Given the description of an element on the screen output the (x, y) to click on. 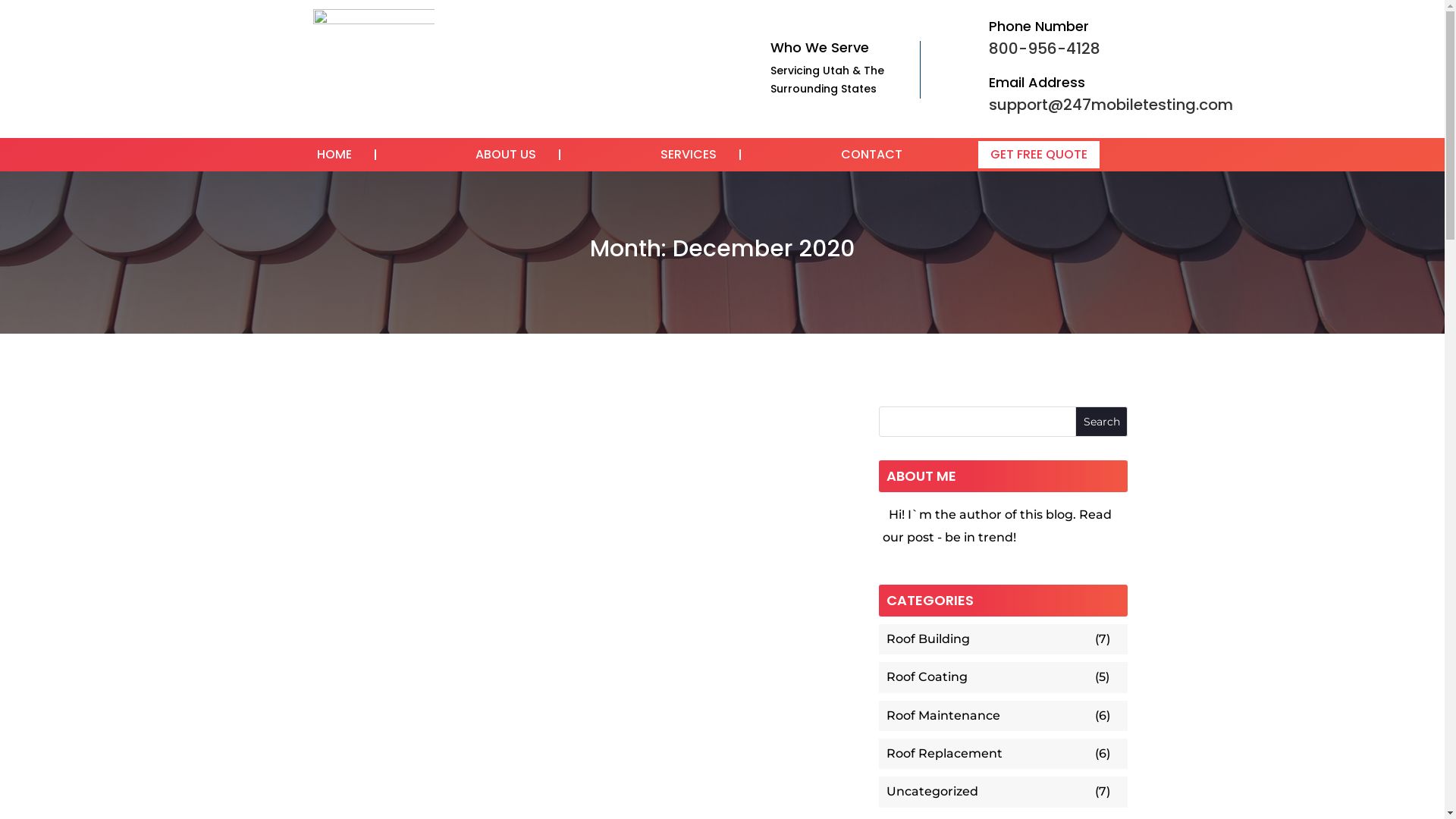
ABOUT US Element type: text (505, 154)
GET FREE QUOTE Element type: text (1038, 155)
Uncategorized Element type: text (989, 791)
SERVICES Element type: text (688, 154)
HOME Element type: text (333, 154)
CONTACT Element type: text (871, 154)
Roof Coating Element type: text (989, 676)
Roof Maintenance Element type: text (989, 715)
Roof Building Element type: text (989, 638)
Roof Replacement Element type: text (989, 753)
Search Element type: text (1101, 421)
247_v4 (1) (2) copy Element type: hover (372, 69)
